Given the description of an element on the screen output the (x, y) to click on. 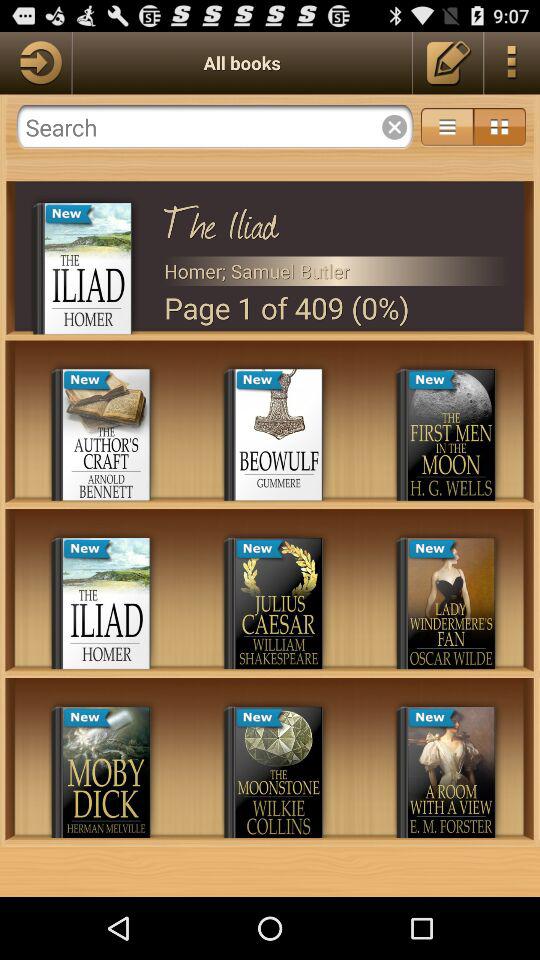
cancel search (394, 127)
